Given the description of an element on the screen output the (x, y) to click on. 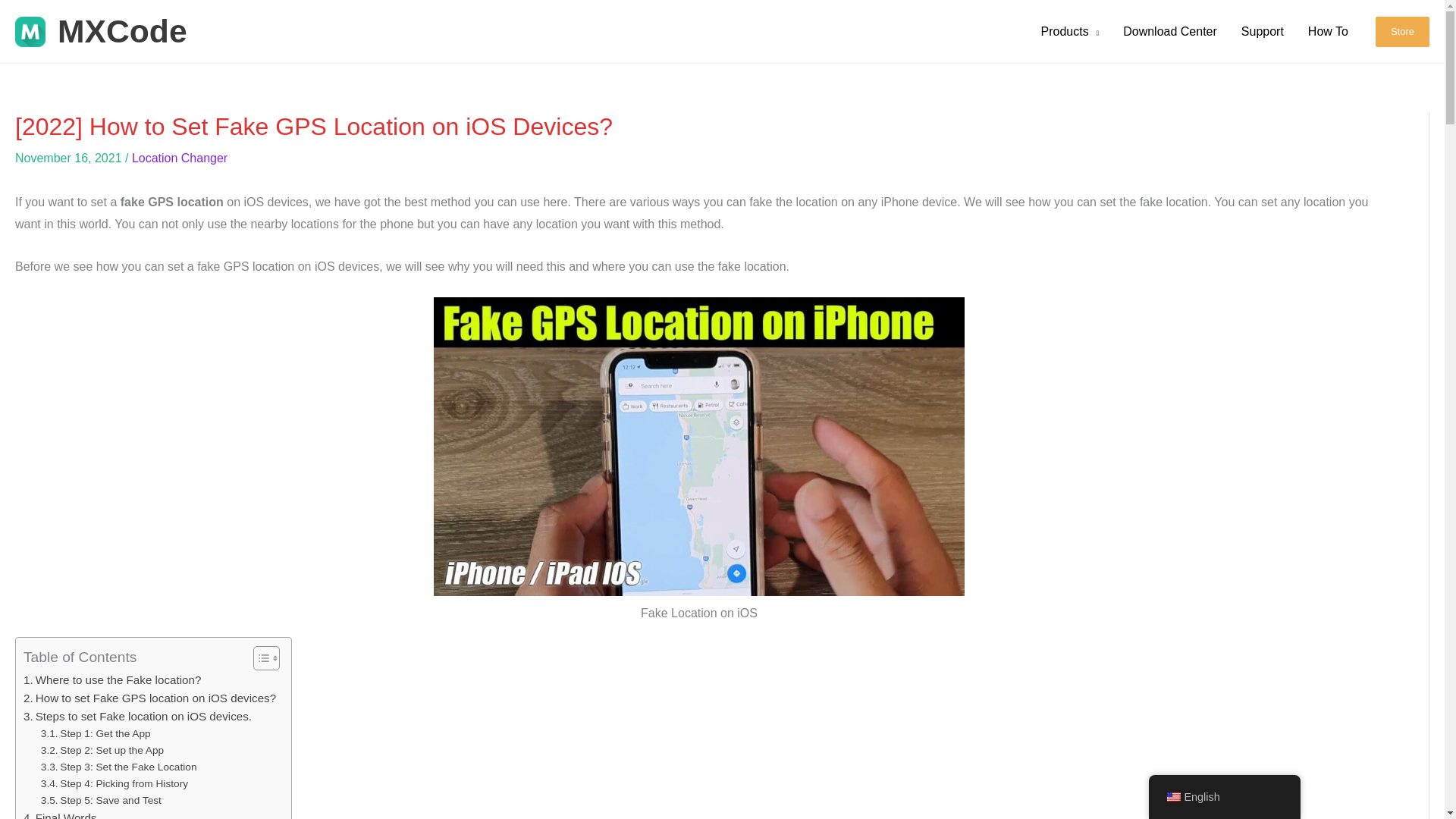
How To (1327, 31)
Step 1: Get the App (95, 733)
Step 4: Picking from History (113, 783)
Download Center (1169, 31)
Step 1: Get the App (95, 733)
Where to use the Fake location? (111, 679)
Location Changer (179, 157)
Step 3: Set the Fake Location (118, 767)
Step 2: Set up the App (101, 750)
Products (1070, 31)
Final Words (59, 814)
English (1172, 796)
Final Words (59, 814)
How to set Fake GPS location on iOS devices? (149, 698)
Store (1402, 31)
